Given the description of an element on the screen output the (x, y) to click on. 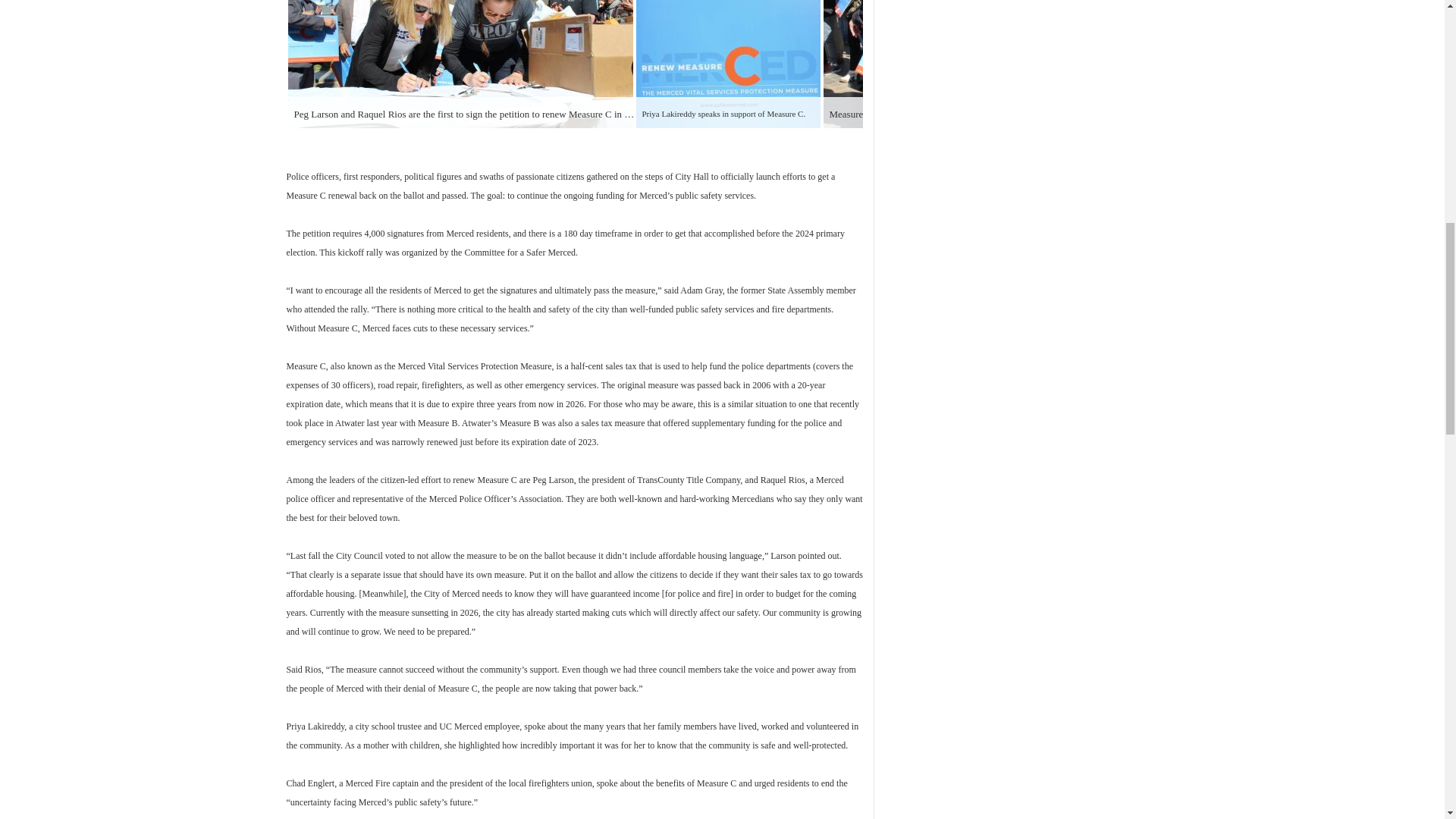
MAIN PHOTO (460, 64)
JUMP PHOTO (996, 64)
